Given the description of an element on the screen output the (x, y) to click on. 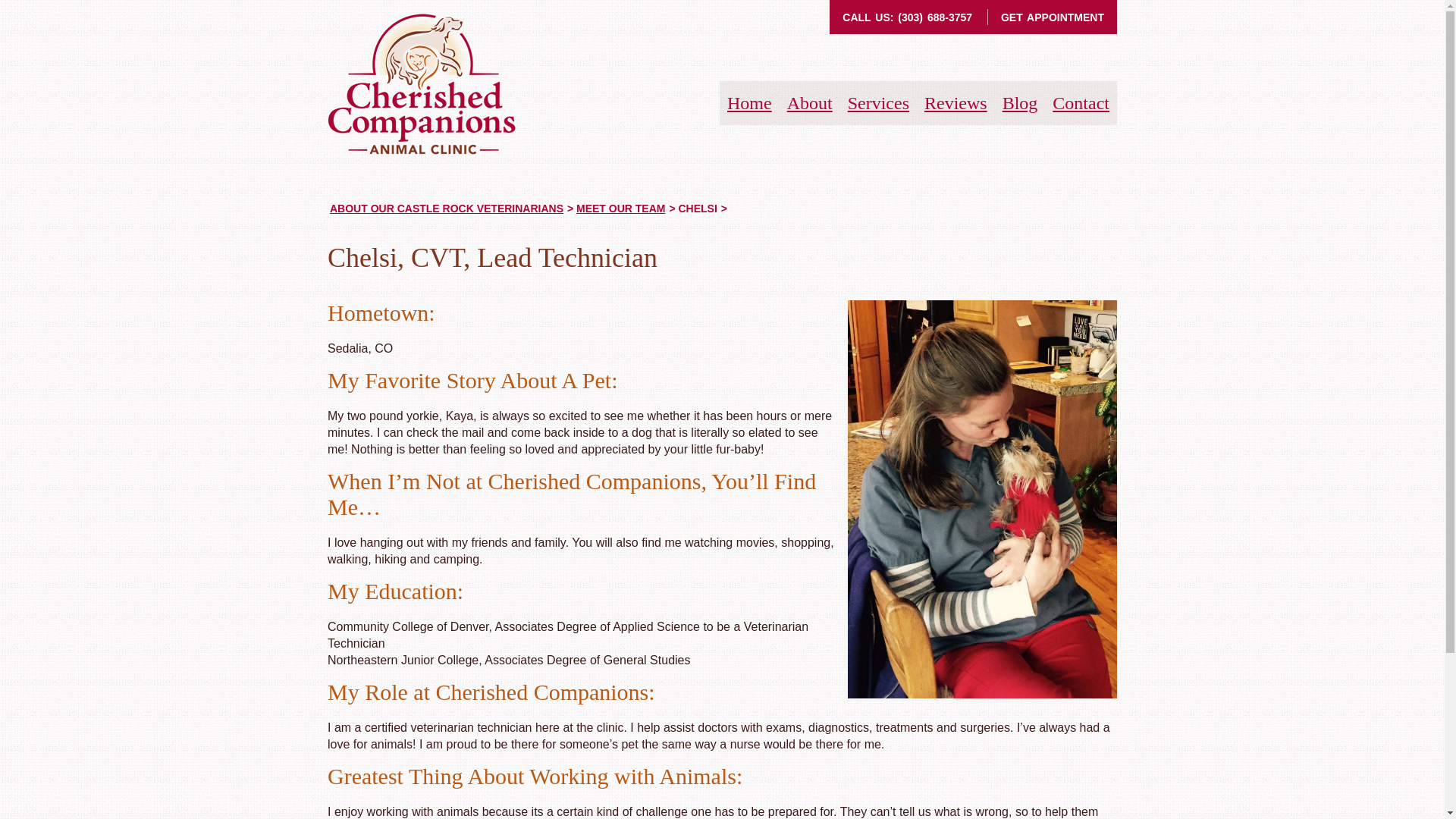
About (809, 103)
Services (877, 103)
Cherished Companions Animal Clinic (422, 83)
Contact (1080, 103)
Blog (1020, 103)
Call Us (935, 17)
Go to About Our Castle Rock Veterinarians. (446, 208)
Home (748, 103)
ABOUT OUR CASTLE ROCK VETERINARIANS (446, 208)
CALL US: (870, 17)
MEET OUR TEAM (620, 208)
Reviews (955, 103)
Go to Meet Our Team. (620, 208)
GET APPOINTMENT (1052, 17)
